Given the description of an element on the screen output the (x, y) to click on. 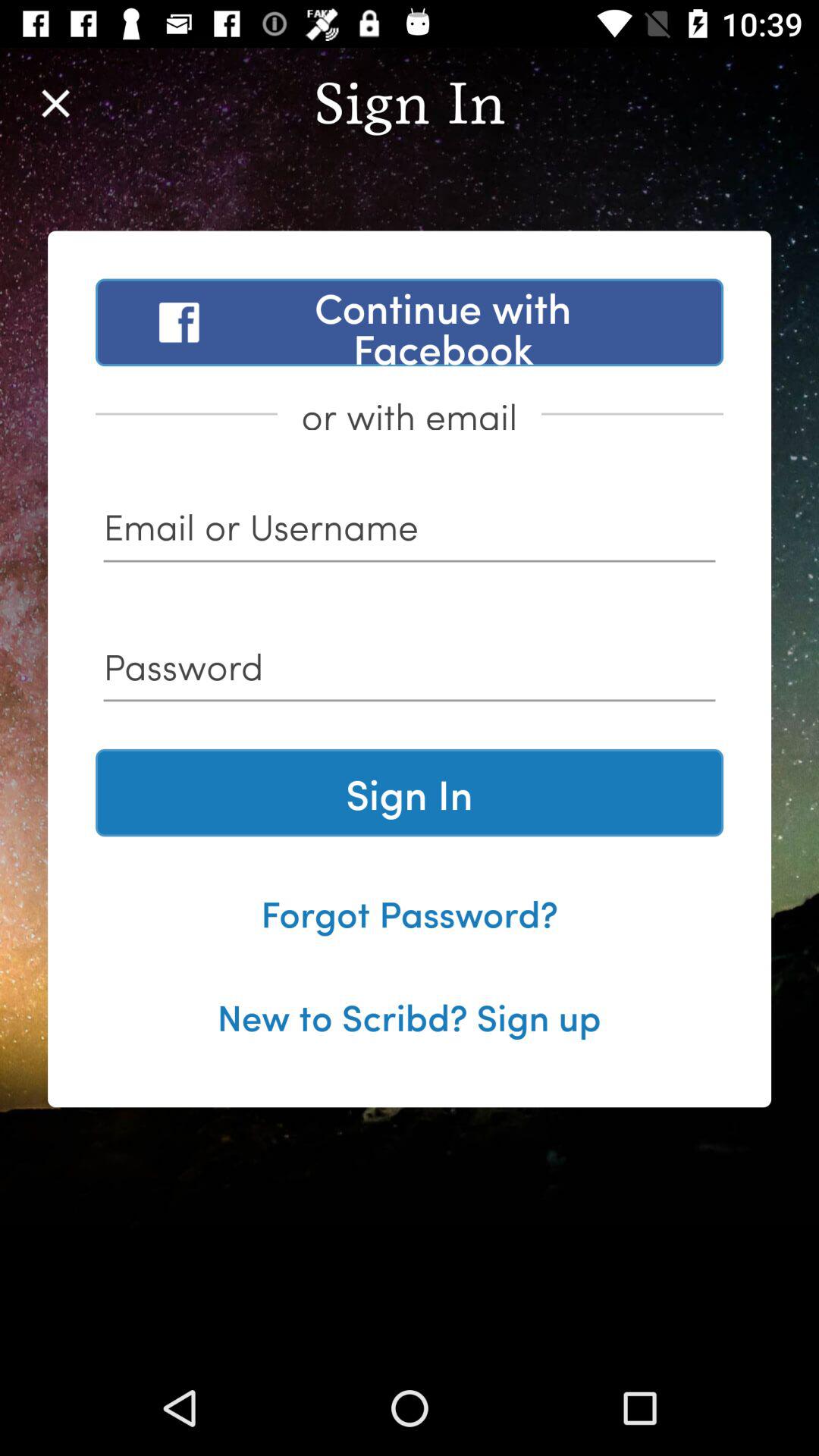
turn off icon above new to scribd icon (409, 912)
